Given the description of an element on the screen output the (x, y) to click on. 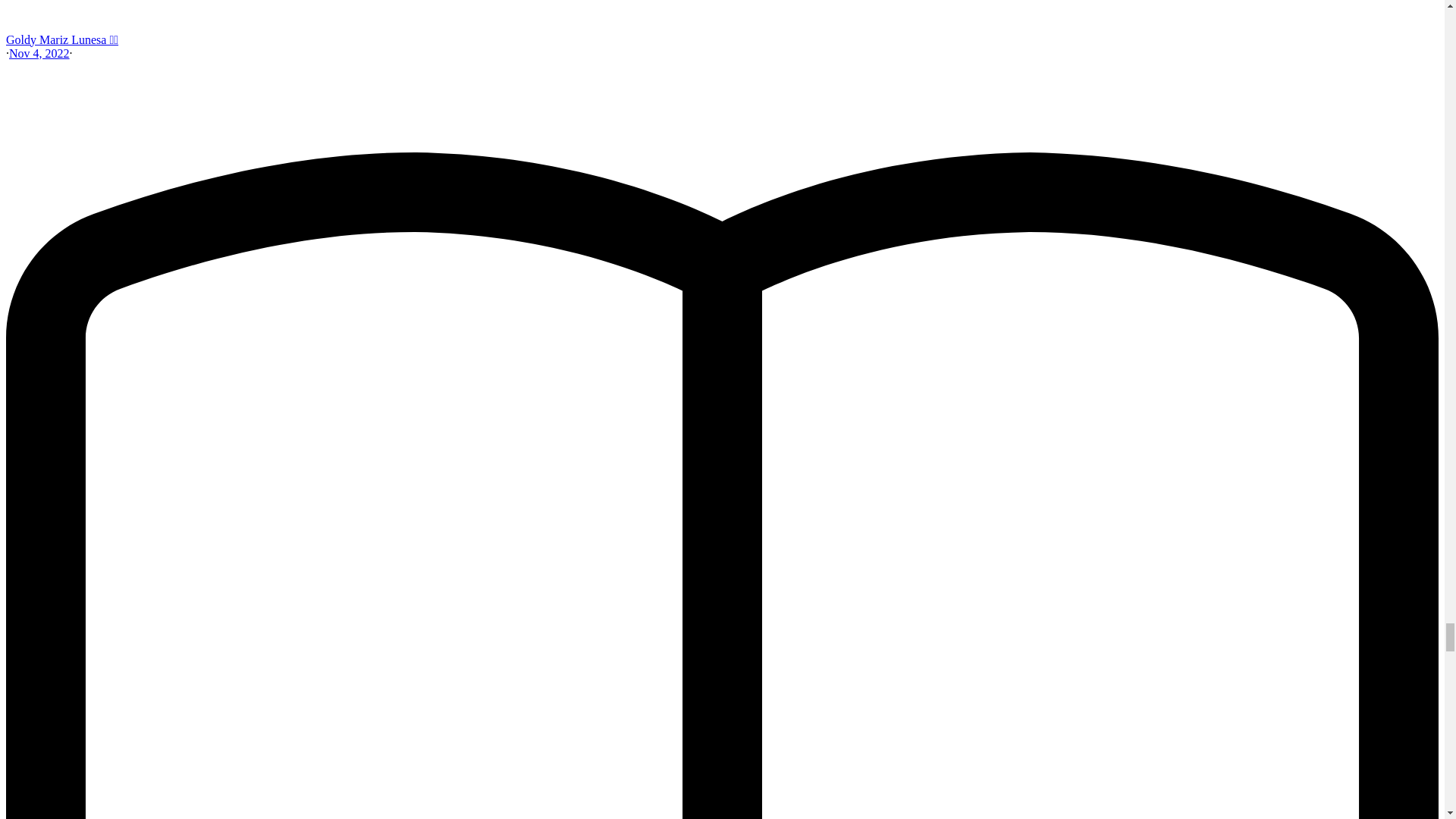
Nov 4, 2022 (38, 52)
